Given the description of an element on the screen output the (x, y) to click on. 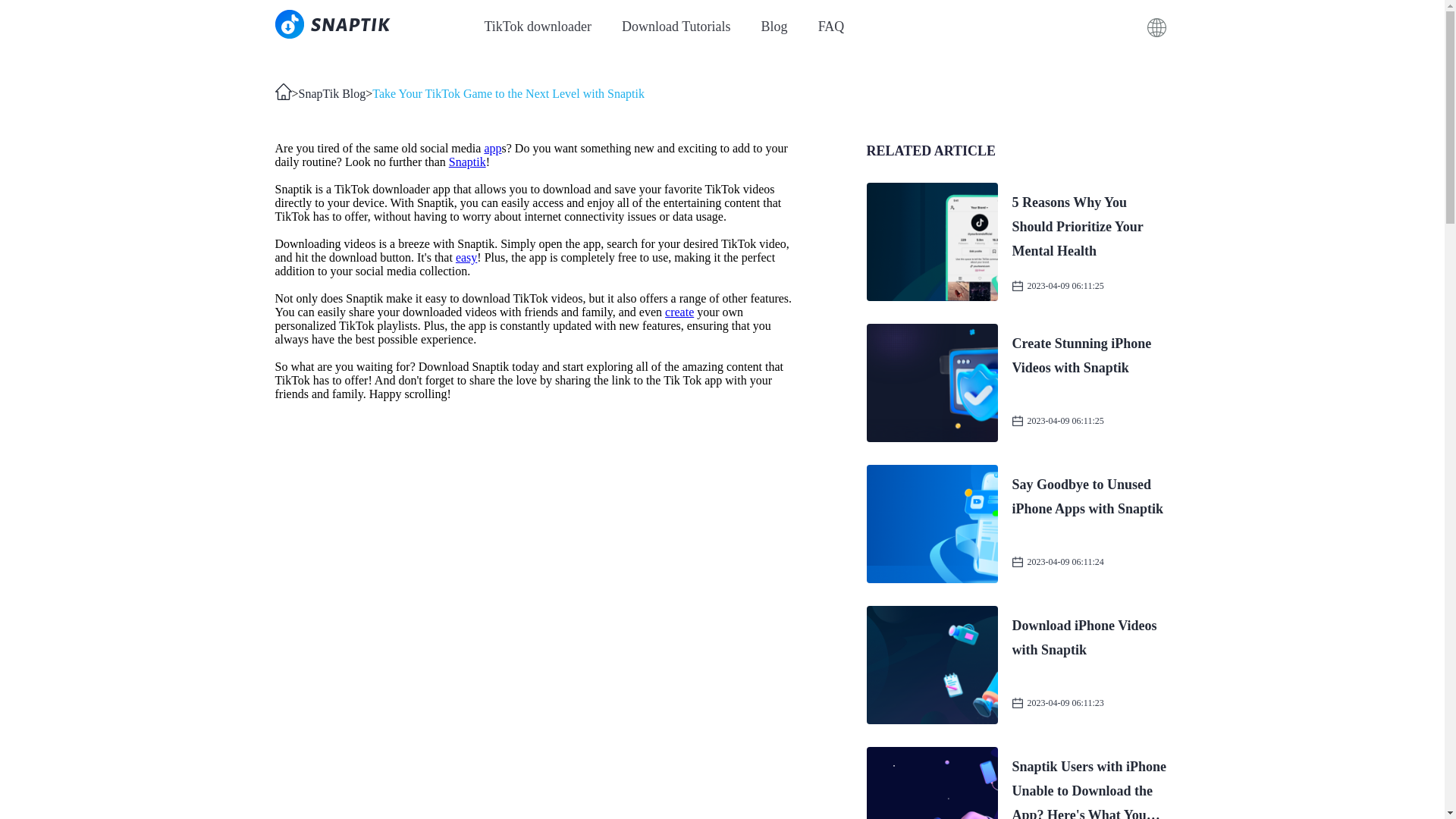
app (491, 147)
Download Tutorials (675, 26)
FAQ (831, 26)
create (1017, 664)
Take Your TikTok Game to the Next Level with Snaptik (679, 311)
Blog (508, 93)
